Given the description of an element on the screen output the (x, y) to click on. 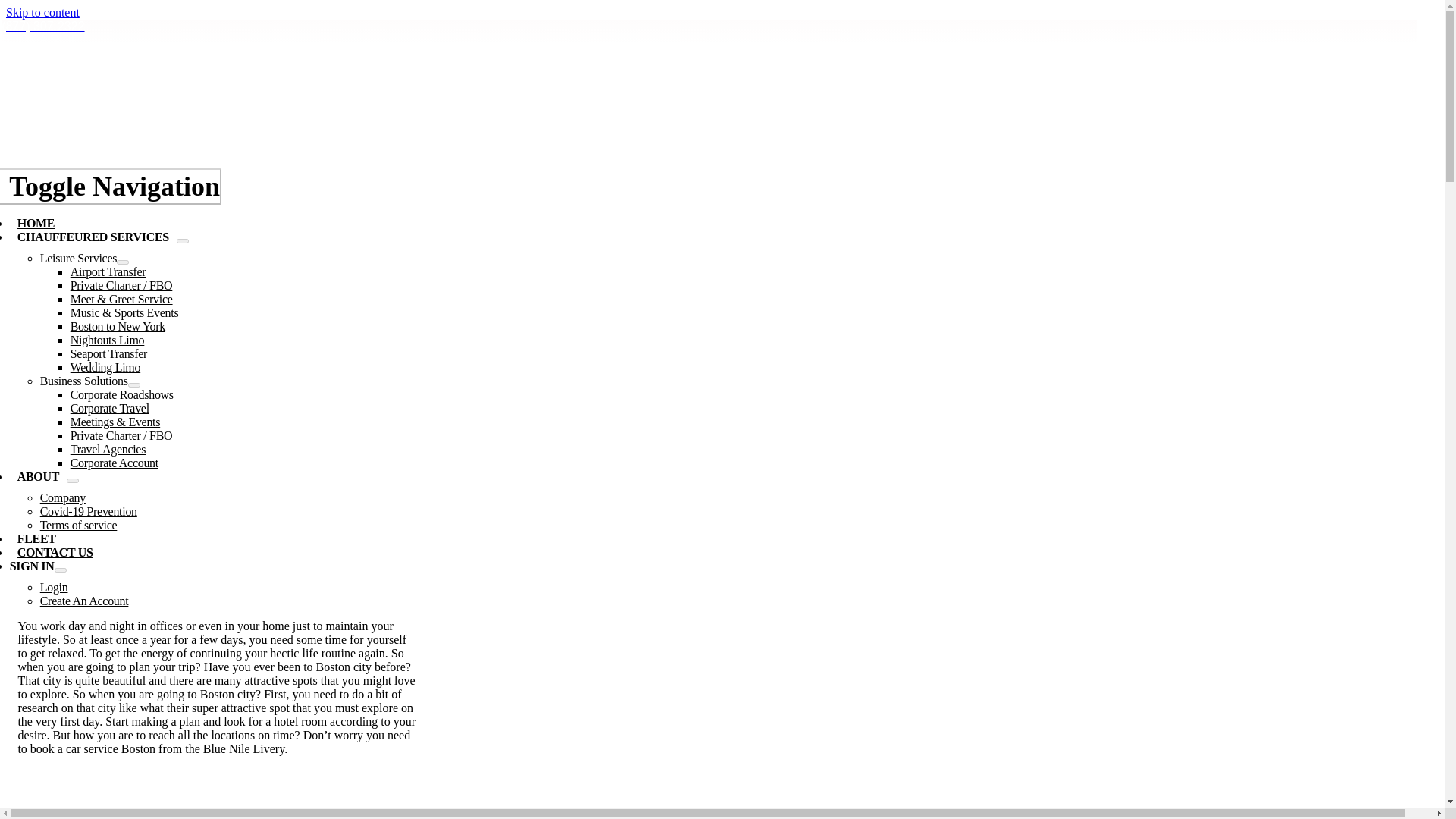
Covid-19 Prevention (88, 511)
Boston to New York (117, 326)
HOME (36, 223)
Terms of service (78, 524)
Travel Agencies (107, 448)
Business Solutions (84, 380)
Skip to content (42, 11)
Create An Account (84, 601)
ABOUT (38, 476)
Seaport Transfer (108, 353)
